Given the description of an element on the screen output the (x, y) to click on. 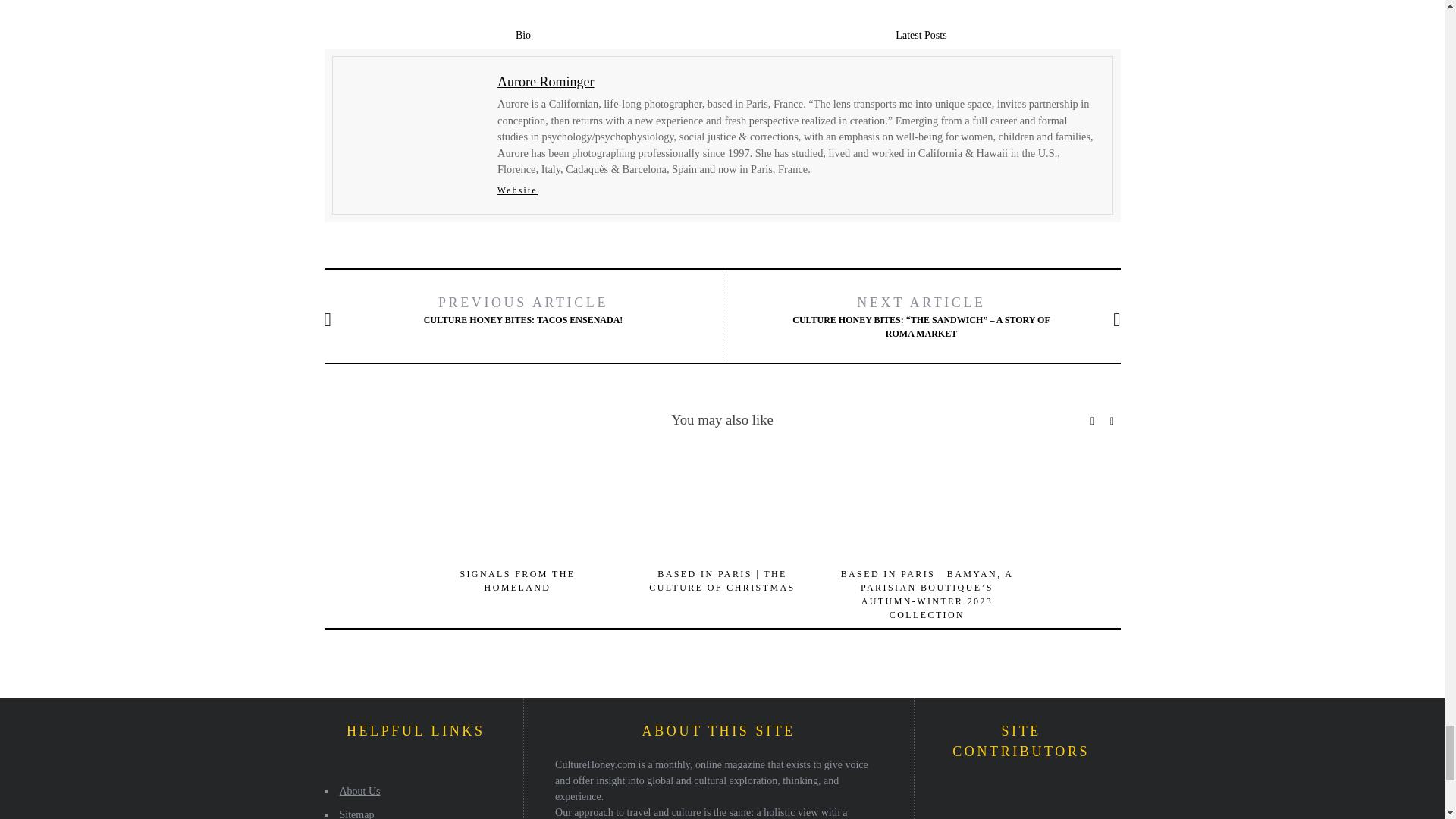
Julie Clark (992, 797)
Kortni Sims (1033, 797)
Aurore Rominger (950, 797)
